Given the description of an element on the screen output the (x, y) to click on. 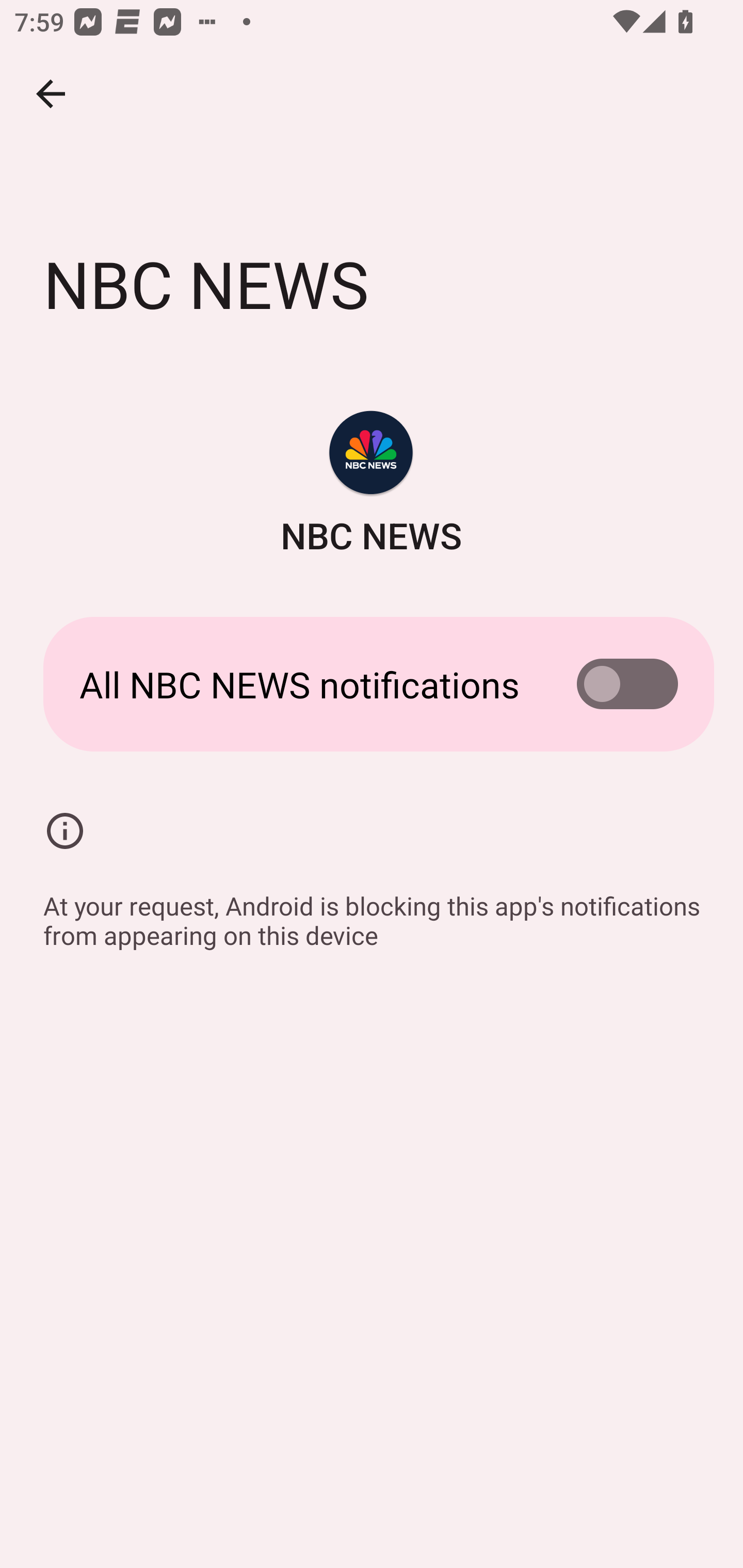
Navigate up (50, 93)
NBC NEWS (371, 484)
All NBC NEWS notifications (371, 684)
